Given the description of an element on the screen output the (x, y) to click on. 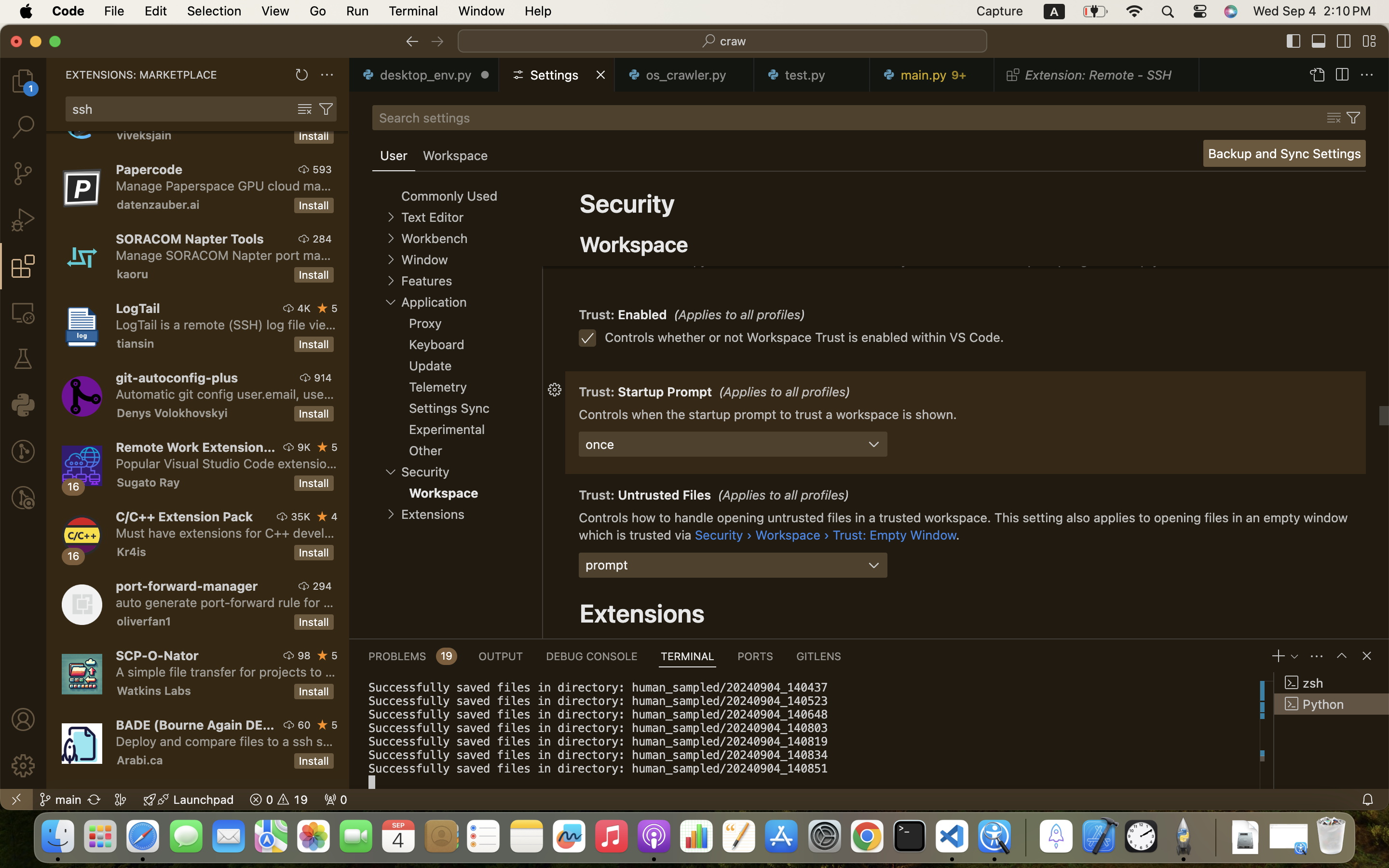
Manage Paperspace GPU cloud machines directly from VS Code. Open with just one click a remote VS Code session, streamlining your machine learning & data science process and increasing productivity. Element type: AXStaticText (223, 185)
EXTENSIONS: MARKETPLACE Element type: AXStaticText (141, 74)
port-forward-manager Element type: AXStaticText (186, 585)
 Element type: AXButton (412, 41)
 Element type: AXCheckBox (1293, 41)
